Given the description of an element on the screen output the (x, y) to click on. 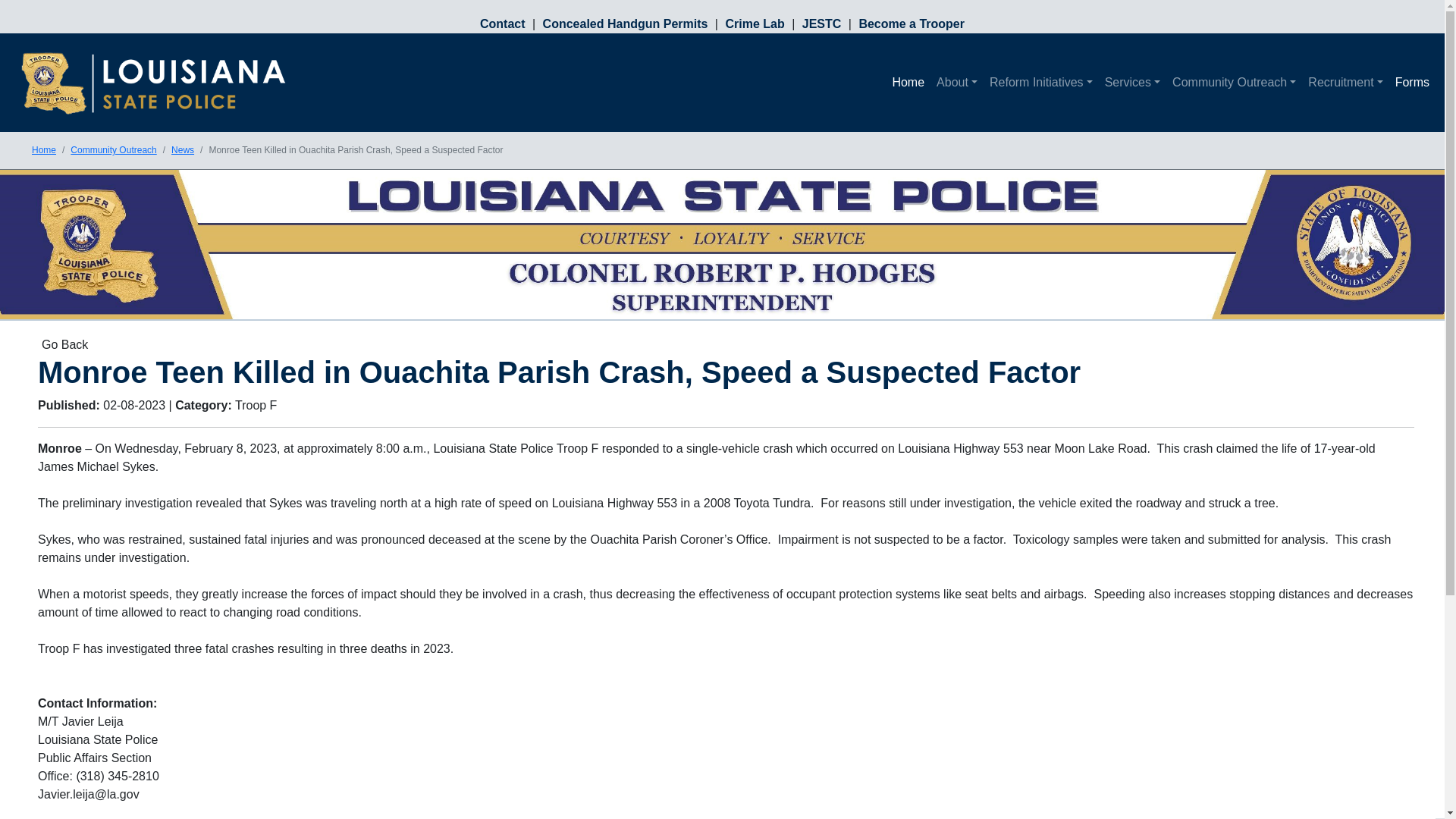
Joint Emergency Services Training Center (822, 23)
Concealed Handgun Permits (626, 23)
About (957, 82)
Crime Lab (756, 23)
Become a Trooper (908, 23)
Concealed Handgun Permits (626, 23)
Crime Lab (756, 23)
Home (907, 82)
Become a Trooper (908, 23)
Contact (506, 23)
